Given the description of an element on the screen output the (x, y) to click on. 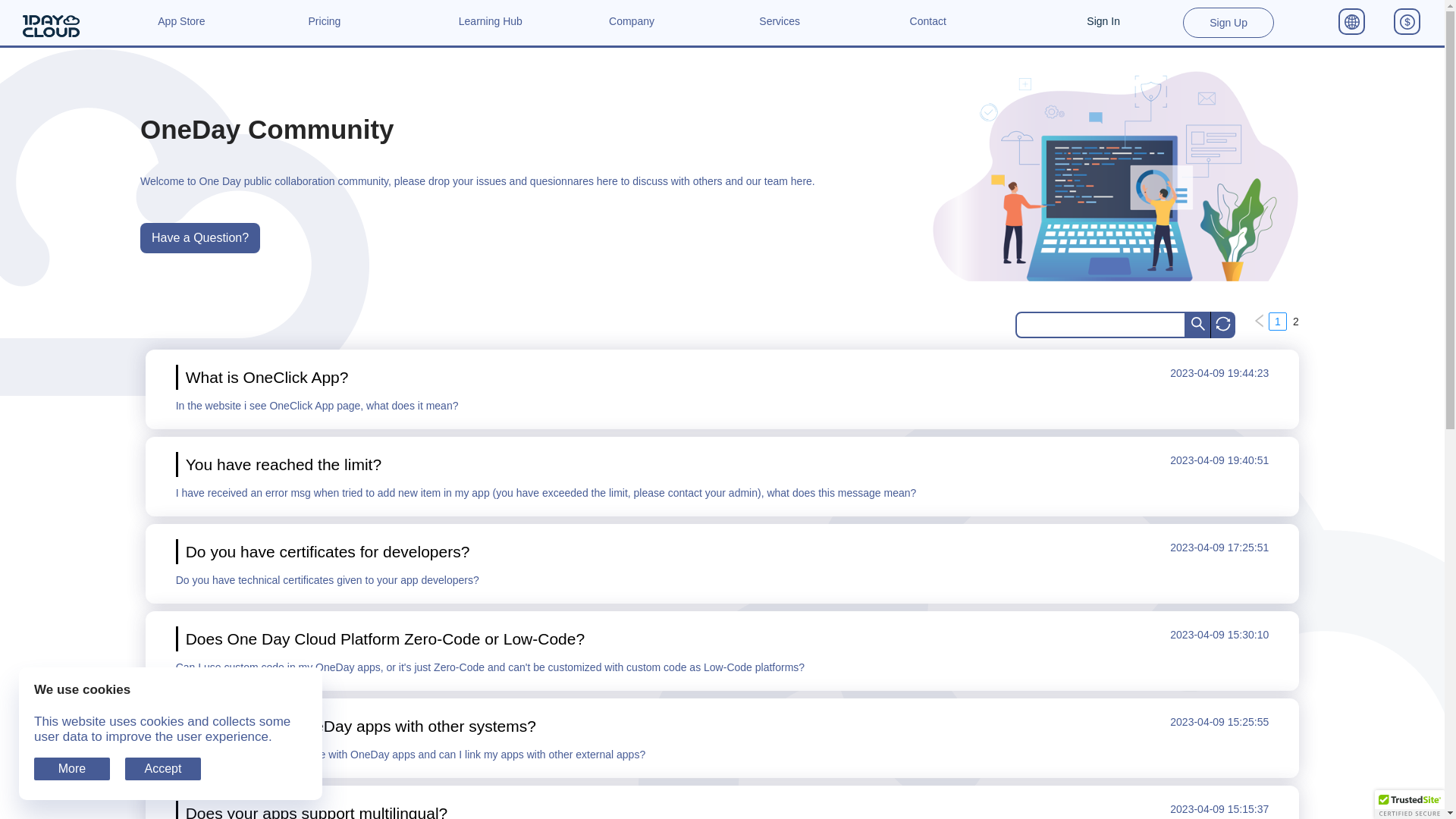
Previous Page Element type: hover (1259, 321)
Contact Element type: text (928, 26)
Sign Up Element type: text (1228, 22)
More Element type: text (71, 768)
Have a Question? Element type: text (200, 237)
Accept Element type: text (162, 768)
Learning Hub Element type: text (490, 26)
Company Element type: text (631, 26)
2 Element type: text (1295, 321)
Sign In Element type: text (1103, 22)
App Store Element type: text (180, 26)
1 Element type: text (1277, 321)
Services Element type: text (779, 26)
Next Page Element type: hover (1314, 321)
Pricing Element type: text (324, 26)
